Given the description of an element on the screen output the (x, y) to click on. 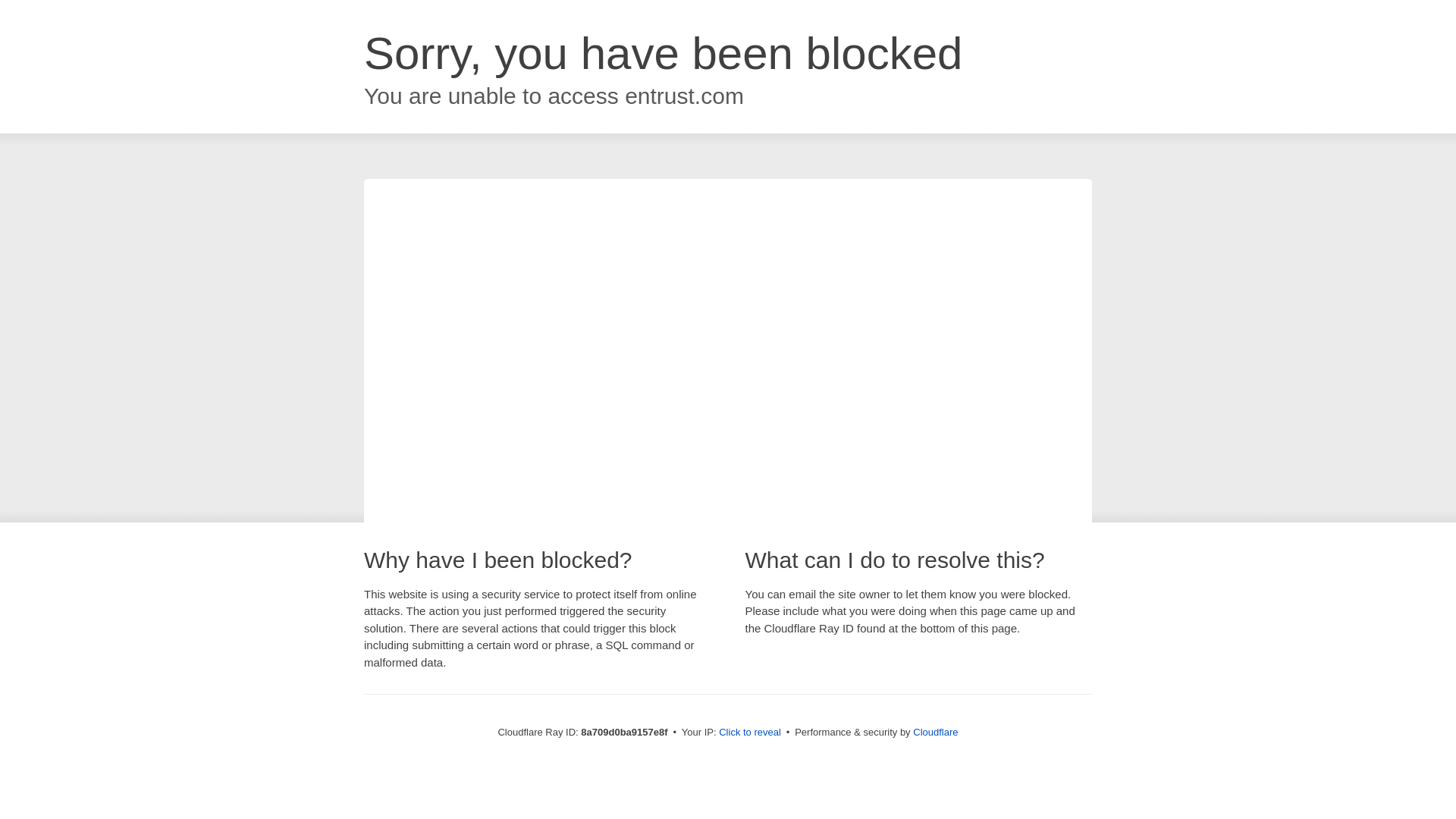
Cloudflare (935, 731)
Click to reveal (749, 732)
